Given the description of an element on the screen output the (x, y) to click on. 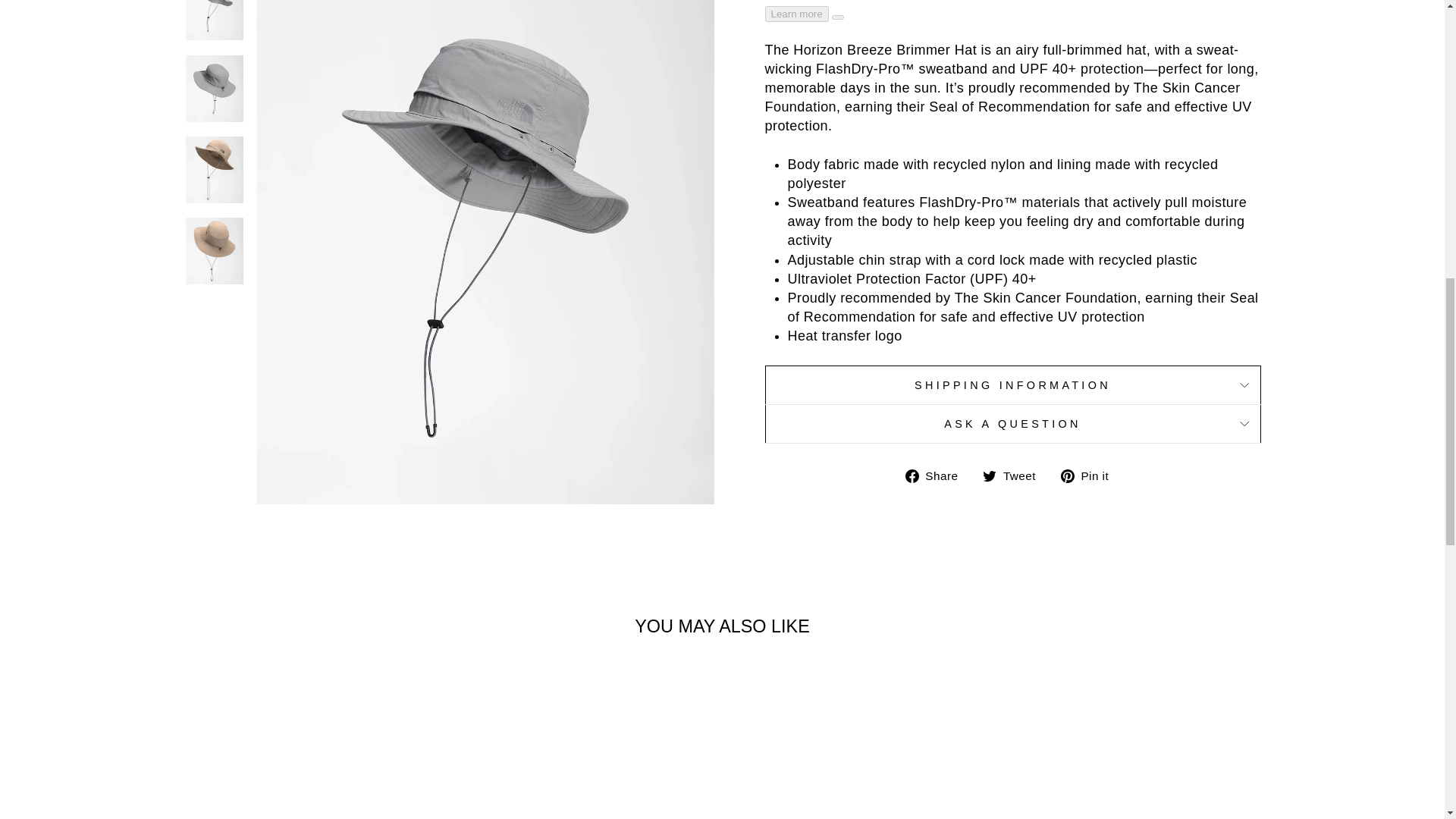
Tweet on Twitter (1014, 475)
Share on Facebook (937, 475)
Pin on Pinterest (1090, 475)
twitter (988, 476)
